Given the description of an element on the screen output the (x, y) to click on. 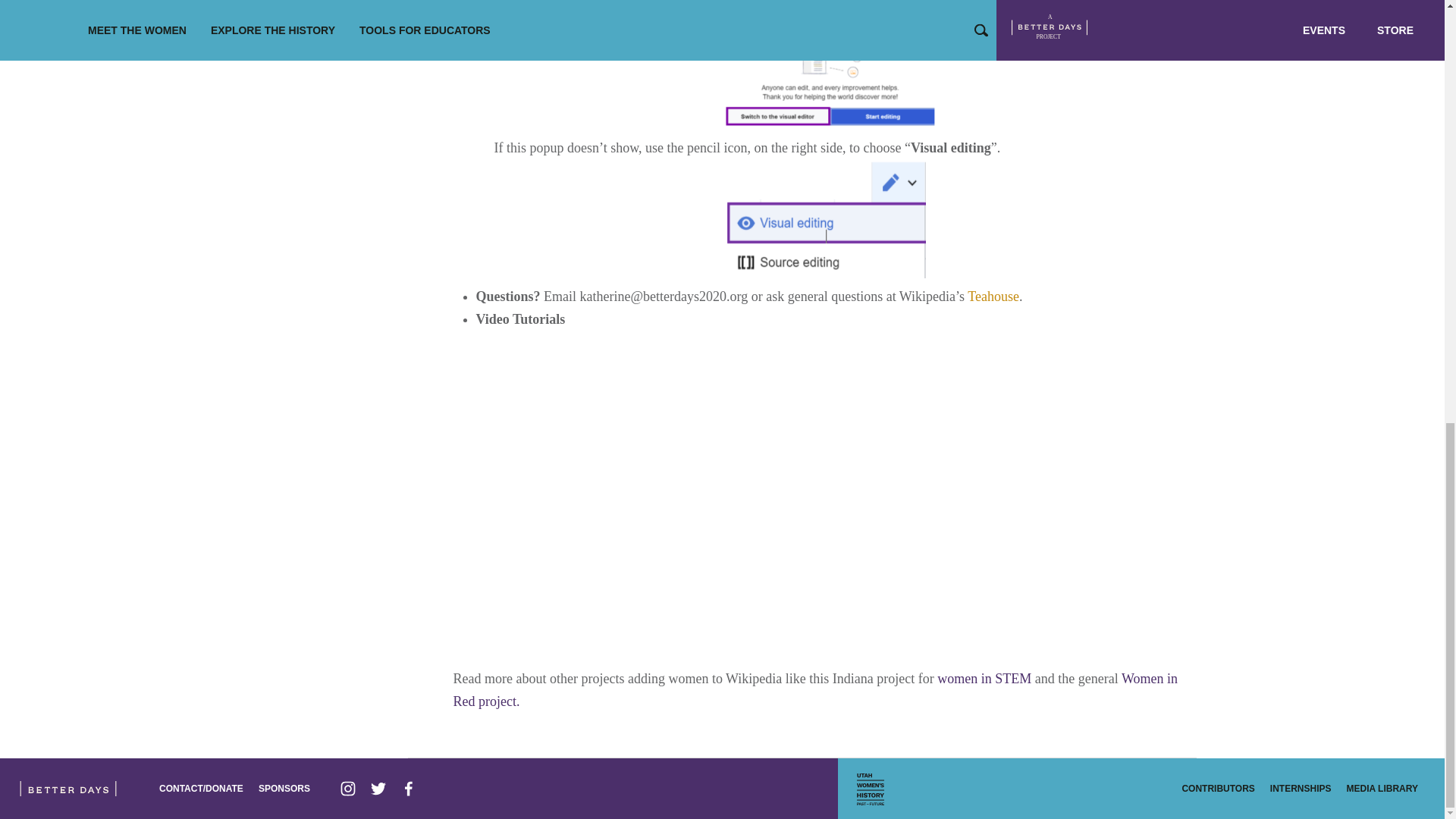
Follow us on Instagram (347, 788)
women in STEM (983, 678)
Teahouse (993, 296)
Follow us on Twitter (377, 788)
Follow us on Facebook (408, 788)
